Given the description of an element on the screen output the (x, y) to click on. 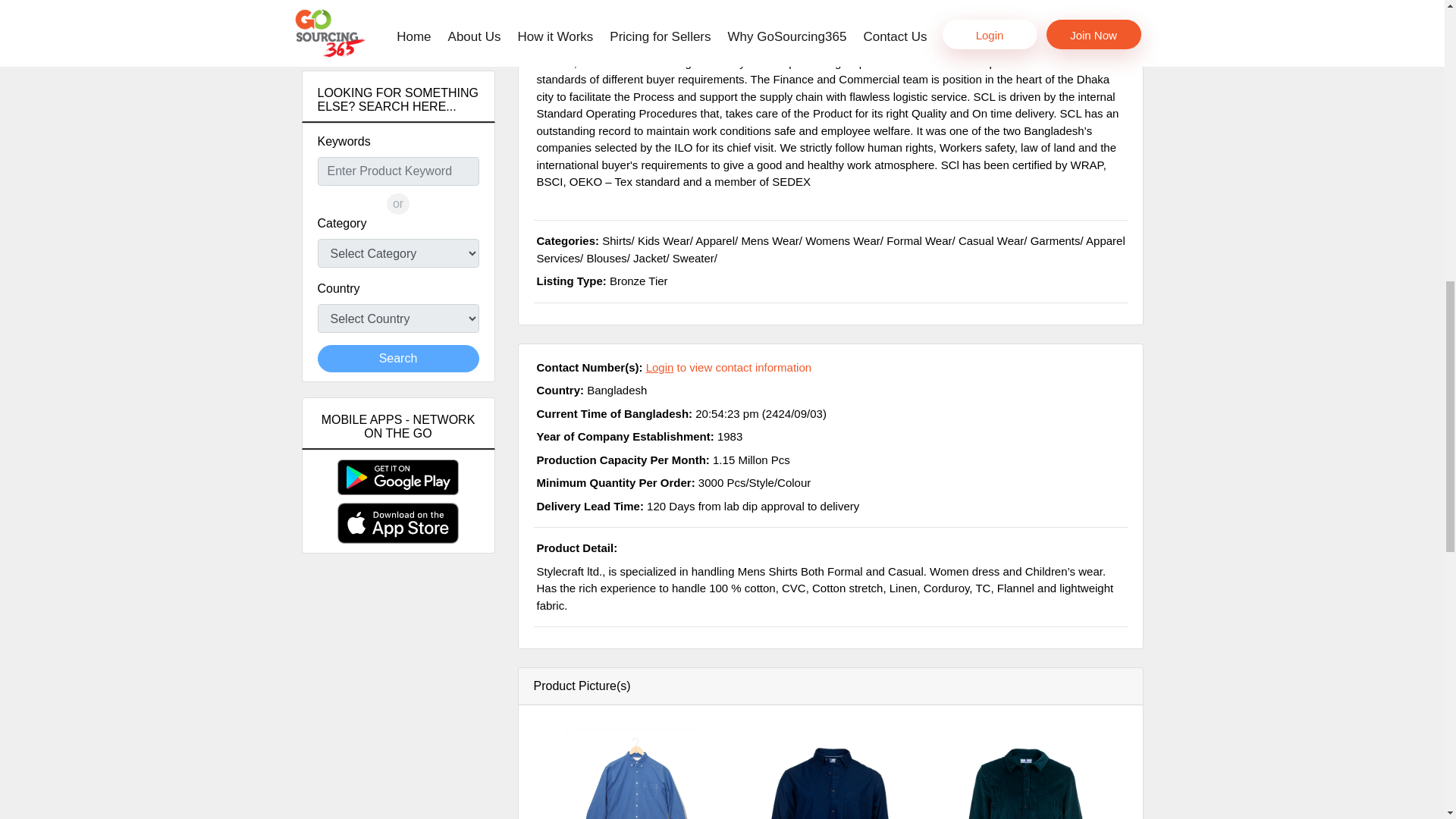
Apparel (715, 240)
Kids Wear (663, 240)
Search (398, 31)
Mens Wear (769, 240)
Shirts (616, 240)
Search (398, 358)
